Given the description of an element on the screen output the (x, y) to click on. 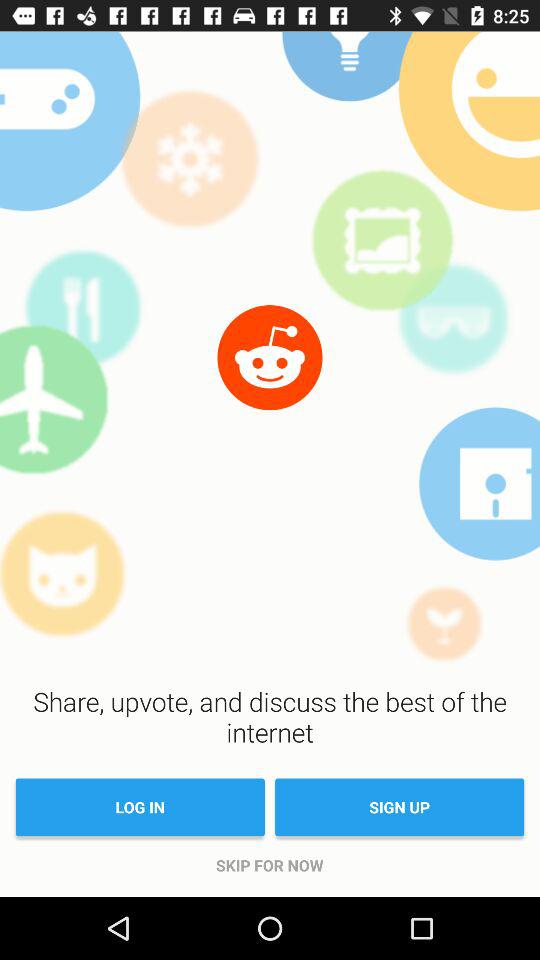
click item below share upvote and item (399, 807)
